Given the description of an element on the screen output the (x, y) to click on. 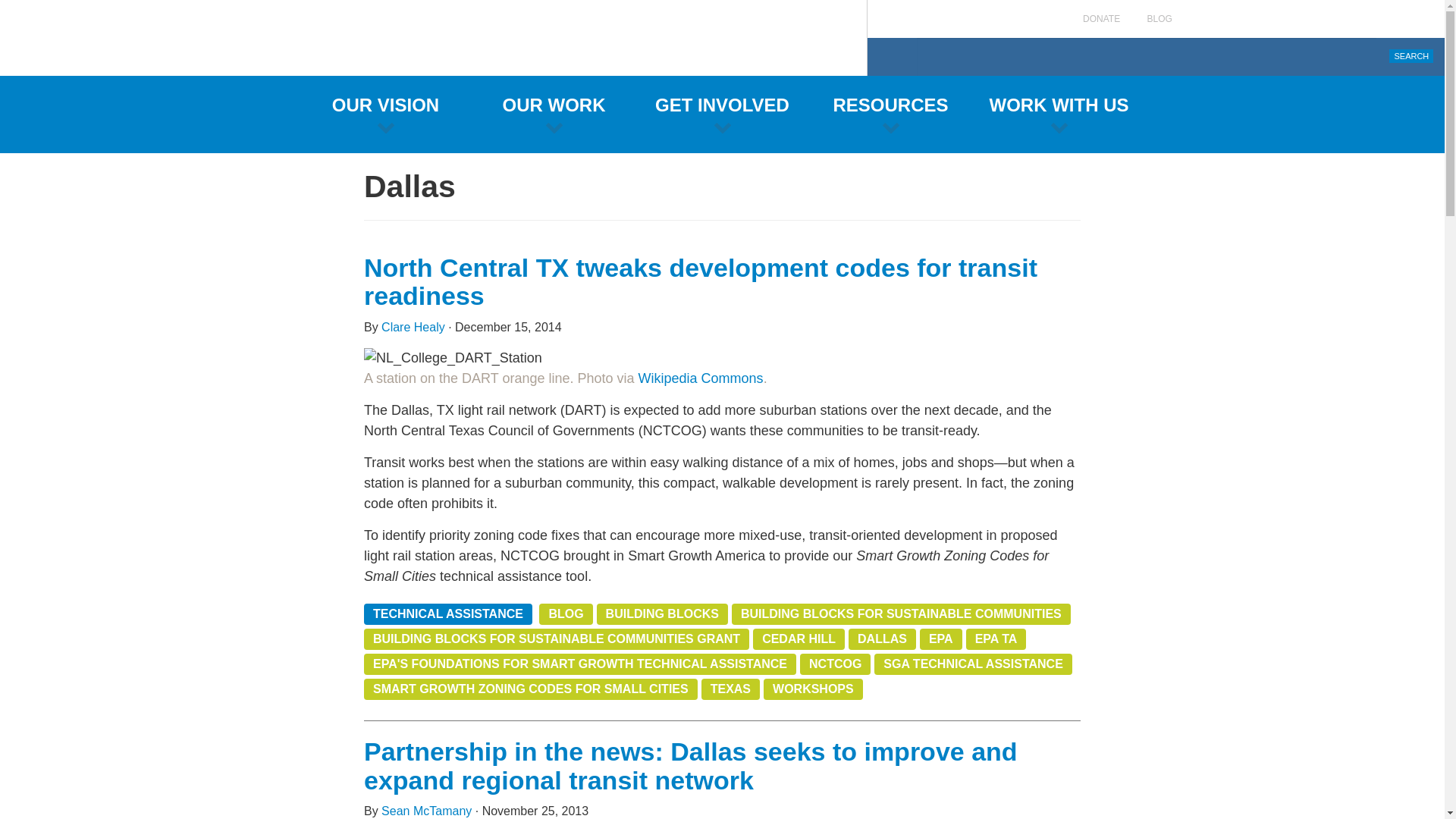
RESOURCES (890, 114)
EPA (941, 639)
Wikipedia Commons (700, 378)
BUILDING BLOCKS (662, 613)
Clare Healy (413, 327)
DONATE (1101, 18)
TECHNICAL ASSISTANCE (448, 613)
Smart Growth America (433, 37)
WORK WITH US (1058, 114)
BLOG (565, 613)
OUR WORK (554, 114)
CEDAR HILL (798, 639)
BUILDING BLOCKS FOR SUSTAINABLE COMMUNITIES GRANT (556, 639)
GET INVOLVED (722, 114)
